Given the description of an element on the screen output the (x, y) to click on. 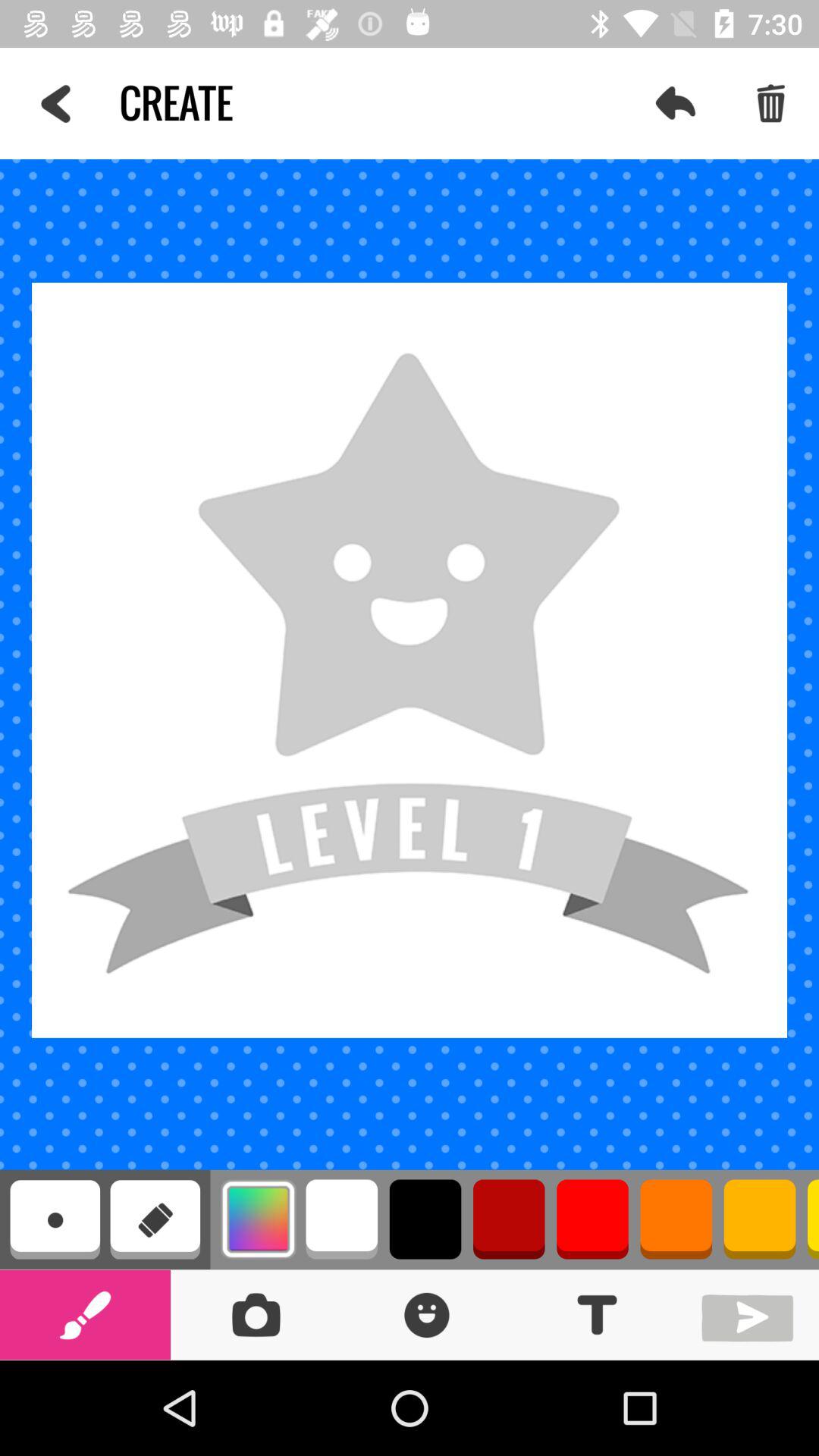
go next (750, 1314)
